Given the description of an element on the screen output the (x, y) to click on. 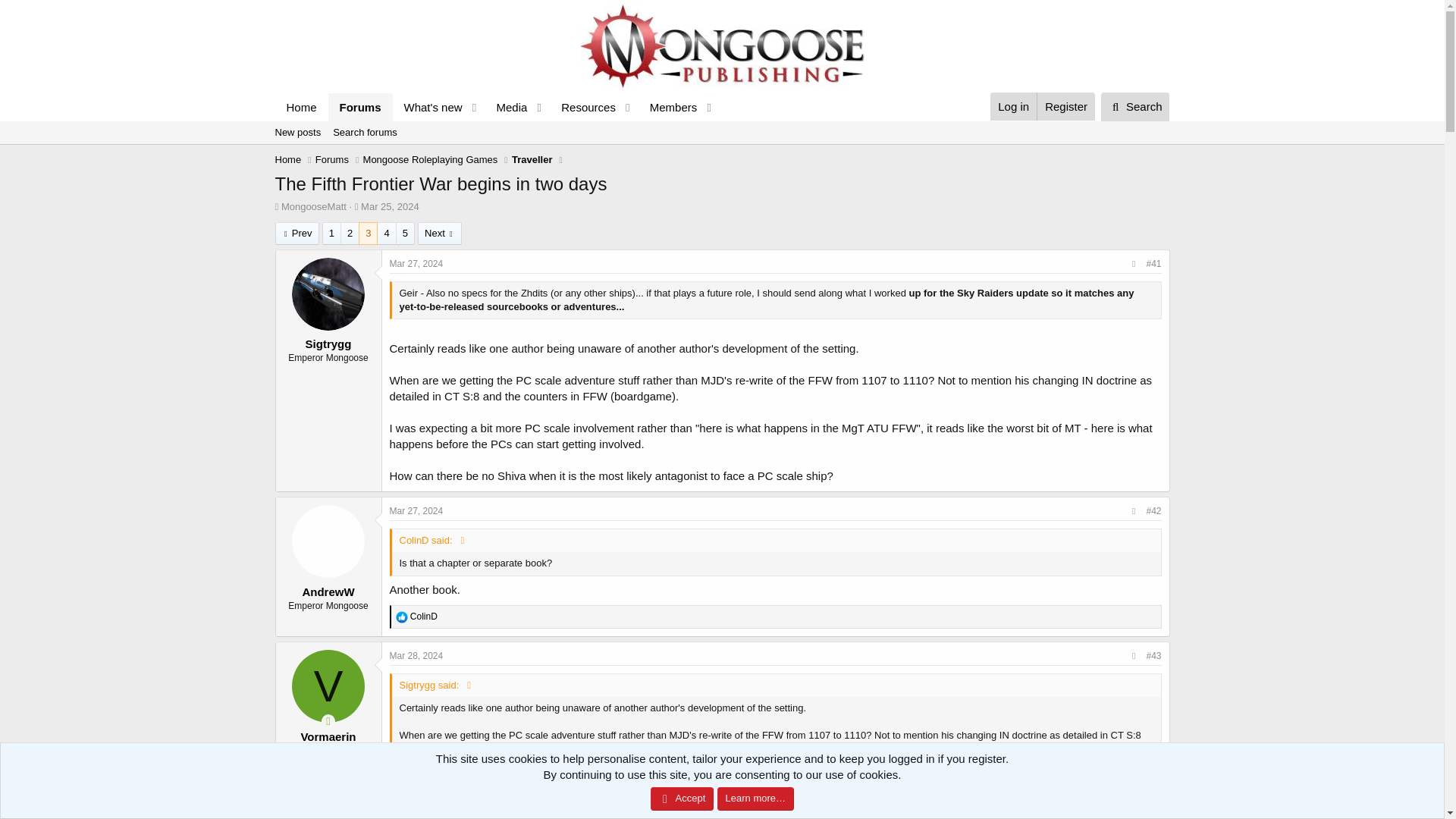
Mar 27, 2024 at 11:28 PM (496, 107)
Log in (417, 263)
Search forums (1013, 106)
Register (364, 132)
New posts (1065, 106)
Search (296, 132)
Media (720, 149)
Forums (1135, 106)
Mar 25, 2024 at 2:49 PM (506, 107)
Search (496, 124)
Mar 28, 2024 at 12:20 AM (361, 107)
What's new (390, 206)
